Given the description of an element on the screen output the (x, y) to click on. 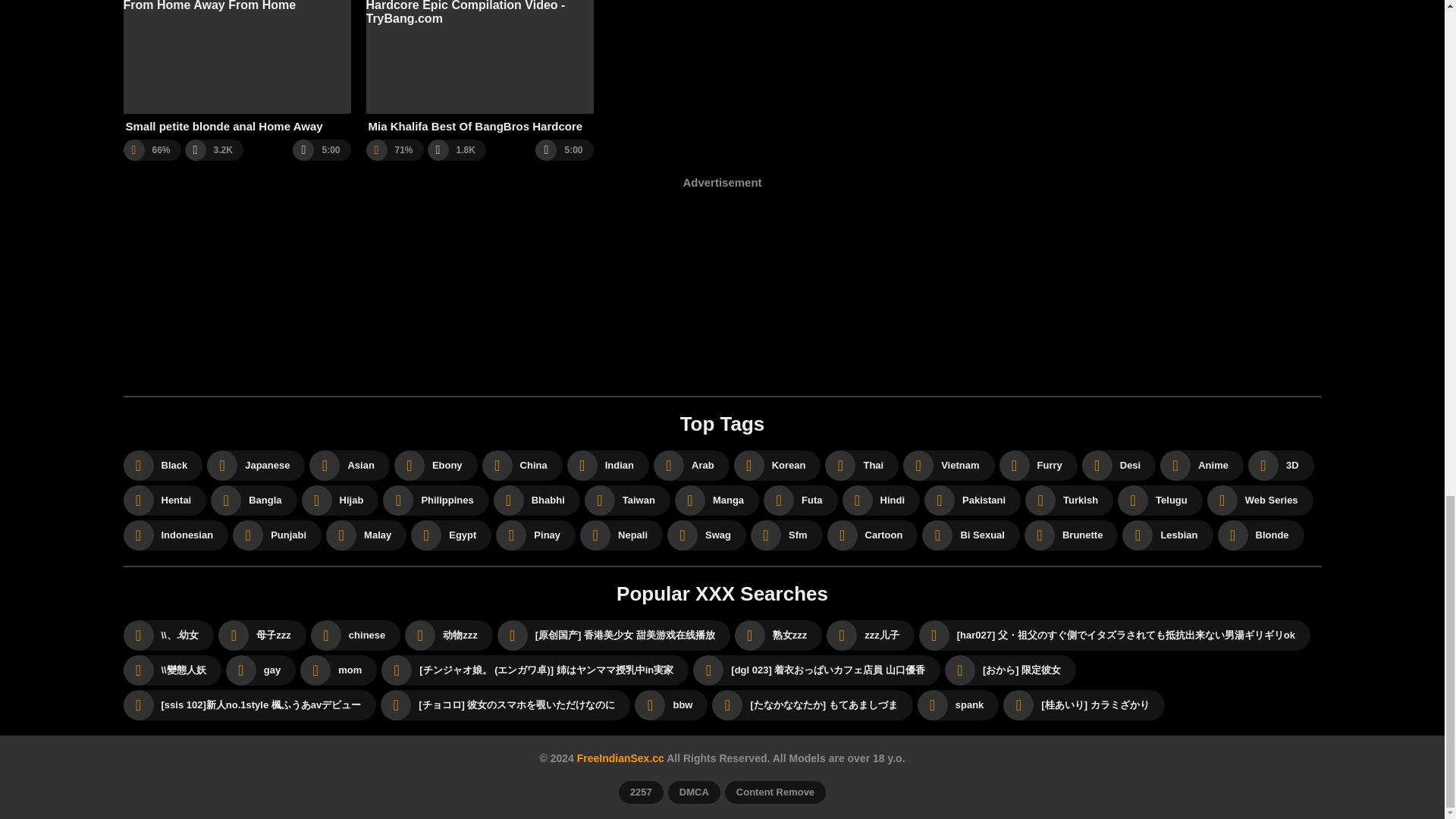
3D (1280, 465)
Anime (1201, 465)
Indian (608, 465)
Ebony (435, 465)
Arab (691, 465)
Hentai (164, 500)
Asian (348, 465)
Japanese (255, 465)
Thai (861, 465)
Bangla (254, 500)
